Given the description of an element on the screen output the (x, y) to click on. 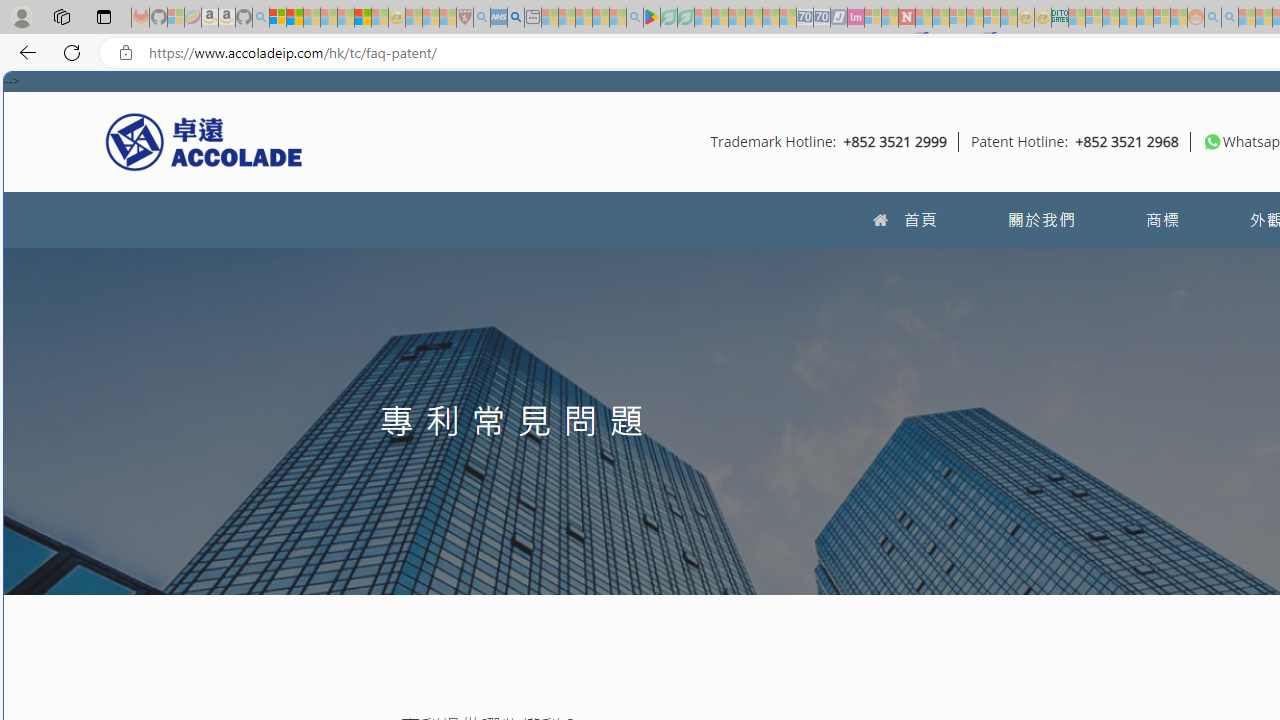
Pets - MSN - Sleeping (600, 17)
Accolade IP HK Logo (203, 141)
Bluey: Let's Play! - Apps on Google Play (651, 17)
Accolade IP HK Logo (203, 141)
